Given the description of an element on the screen output the (x, y) to click on. 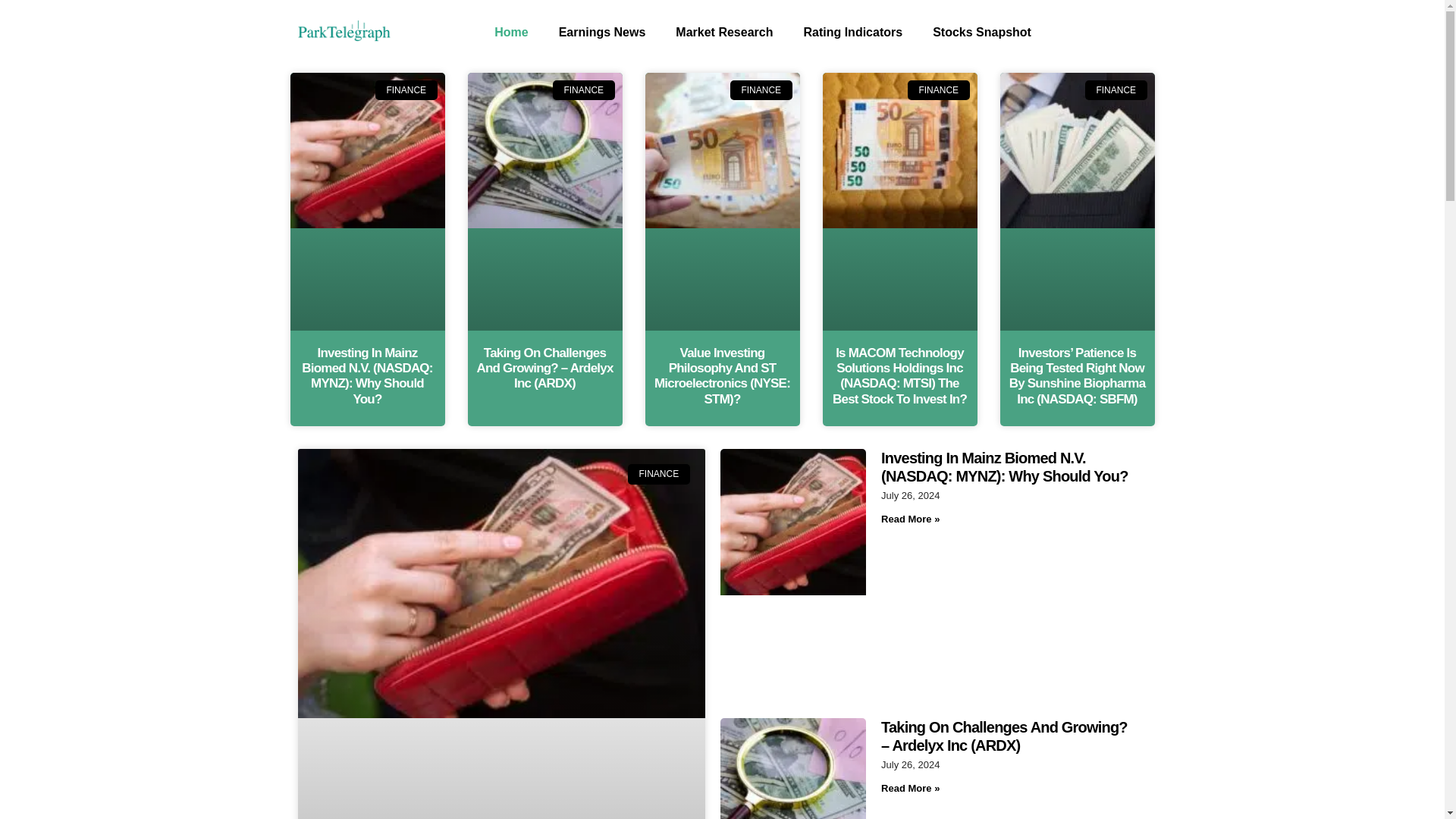
Stocks Snapshot (981, 32)
Earnings News (602, 32)
Home (511, 32)
Rating Indicators (852, 32)
Market Research (724, 32)
